Given the description of an element on the screen output the (x, y) to click on. 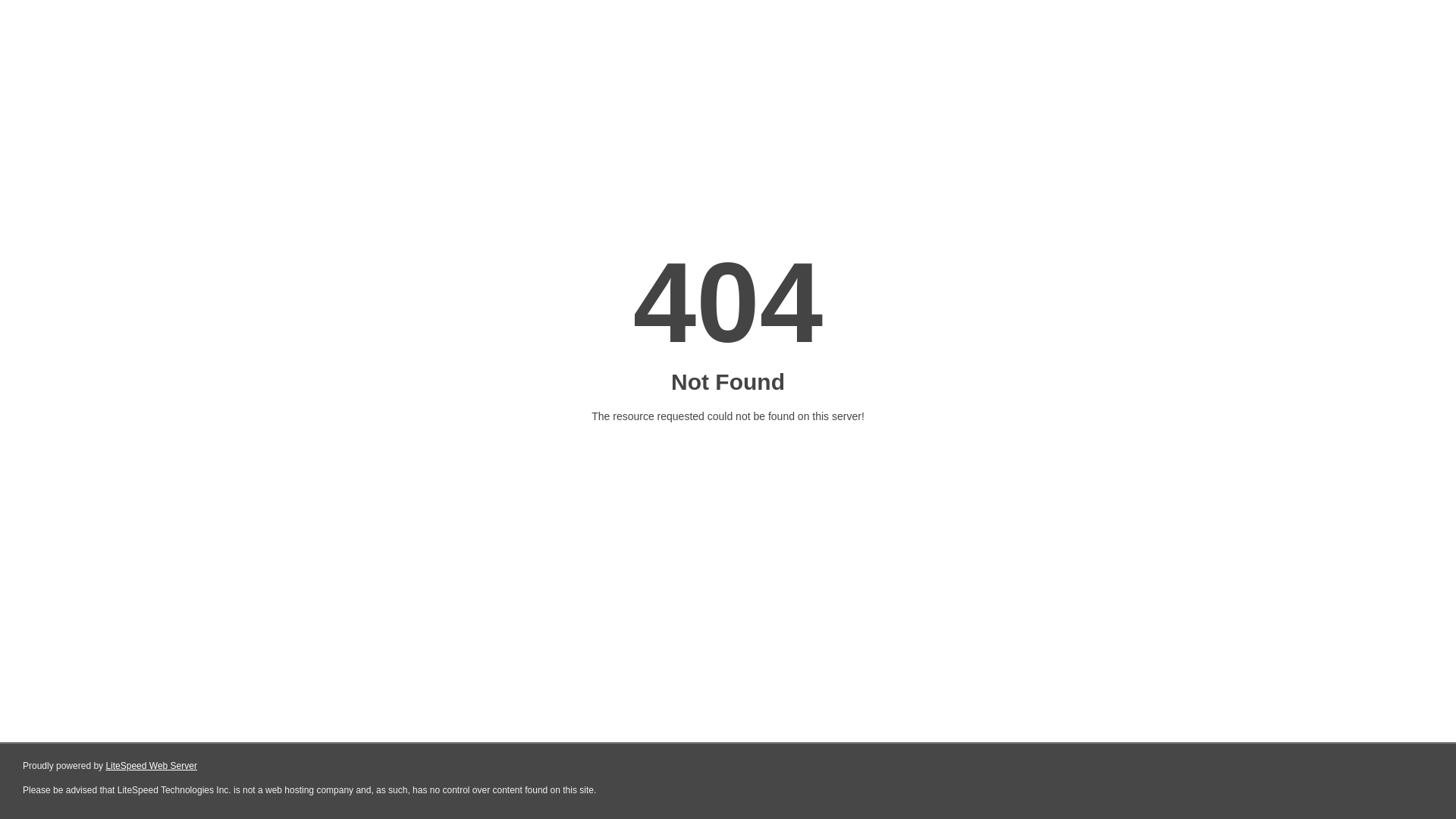
LiteSpeed Web Server Element type: text (151, 765)
